Given the description of an element on the screen output the (x, y) to click on. 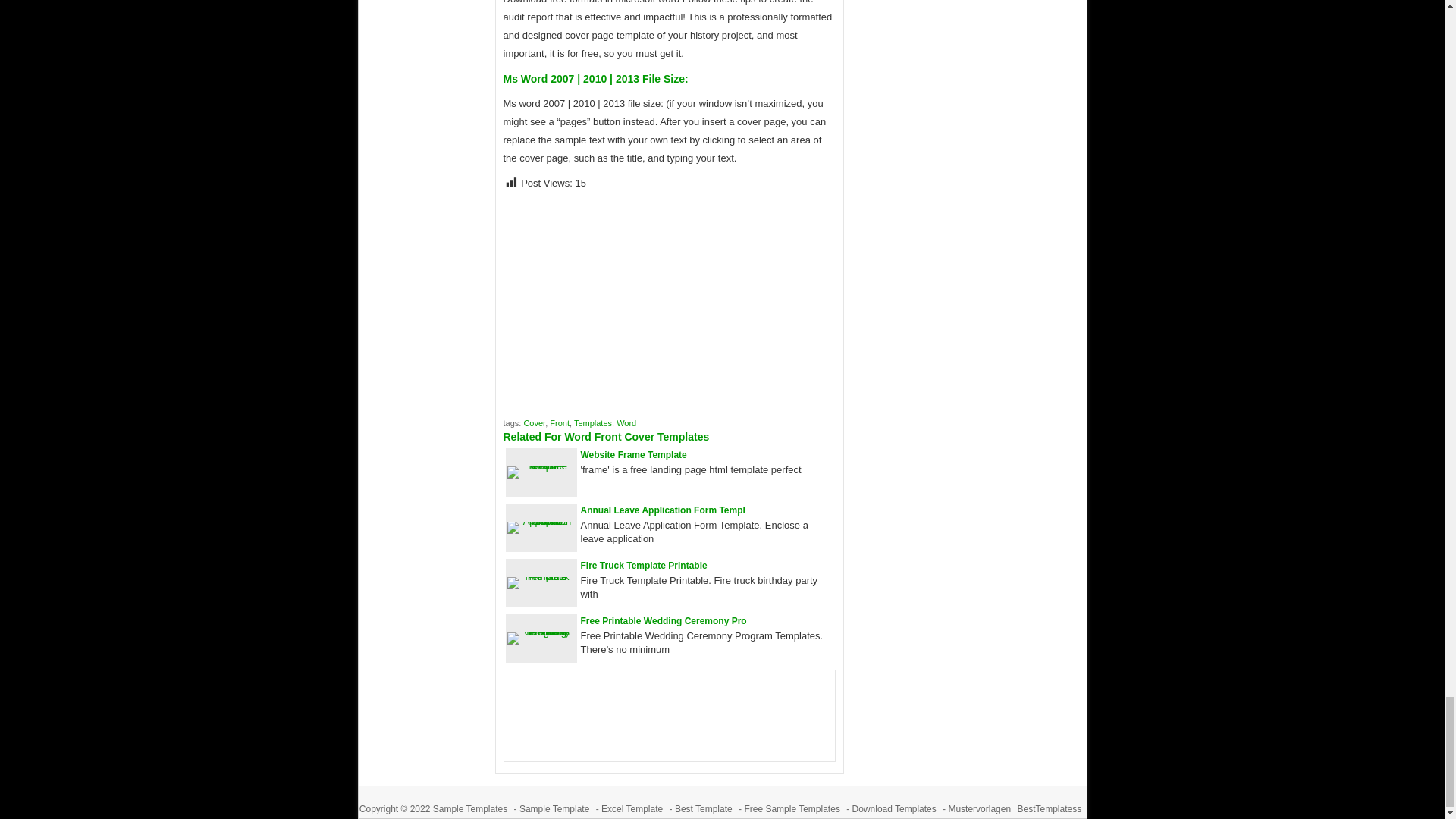
Cover (533, 422)
Front (559, 422)
Fire Truck Template Printable (540, 576)
Website Frame Template (540, 465)
Website Frame Template (633, 454)
Free Printable Wedding Ceremony Program Templates (540, 632)
Word (625, 422)
Annual Leave Application Form Template (540, 521)
Annual Leave Application Form Template (662, 510)
Annual Leave Application Form Templ (662, 510)
